Given the description of an element on the screen output the (x, y) to click on. 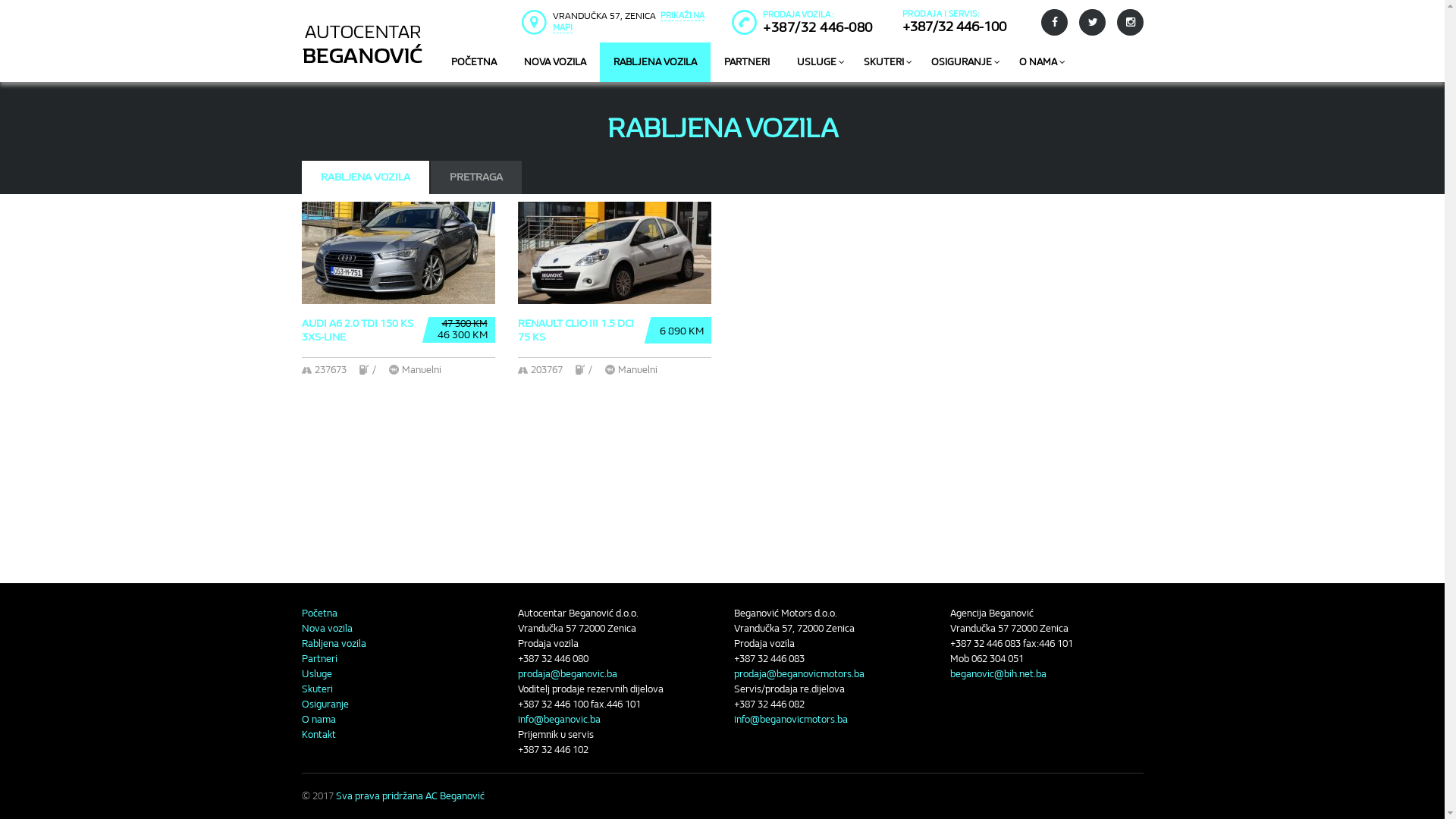
+387/32 446-080 Element type: text (817, 27)
PARTNERI Element type: text (745, 61)
RABLJENA VOZILA Element type: text (365, 177)
info@beganovicmotors.ba Element type: text (790, 718)
Osiguranje Element type: text (324, 703)
prodaja@beganovic.ba Element type: text (566, 673)
Rabljena vozila Element type: text (333, 643)
Usluge Element type: text (316, 673)
OSIGURANJE Element type: text (961, 61)
O NAMA Element type: text (1037, 61)
Partneri Element type: text (319, 658)
beganovic@bih.net.ba Element type: text (997, 673)
RABLJENA VOZILA Element type: text (654, 61)
O nama Element type: text (318, 718)
SKUTERI Element type: text (882, 61)
prodaja@beganovicmotors.ba Element type: text (799, 673)
Kontakt Element type: text (318, 734)
+387/32 446-100 Element type: text (954, 26)
Nova vozila Element type: text (326, 627)
PRETRAGA Element type: text (475, 177)
info@beganovic.ba Element type: text (558, 718)
NOVA VOZILA Element type: text (554, 61)
Skuteri Element type: text (316, 688)
Home Element type: hover (362, 20)
USLUGE Element type: text (815, 61)
6 890 KM
RENAULT CLIO III 1.5 DCI 75 KS
203767 / Manuelni Element type: text (613, 311)
